Given the description of an element on the screen output the (x, y) to click on. 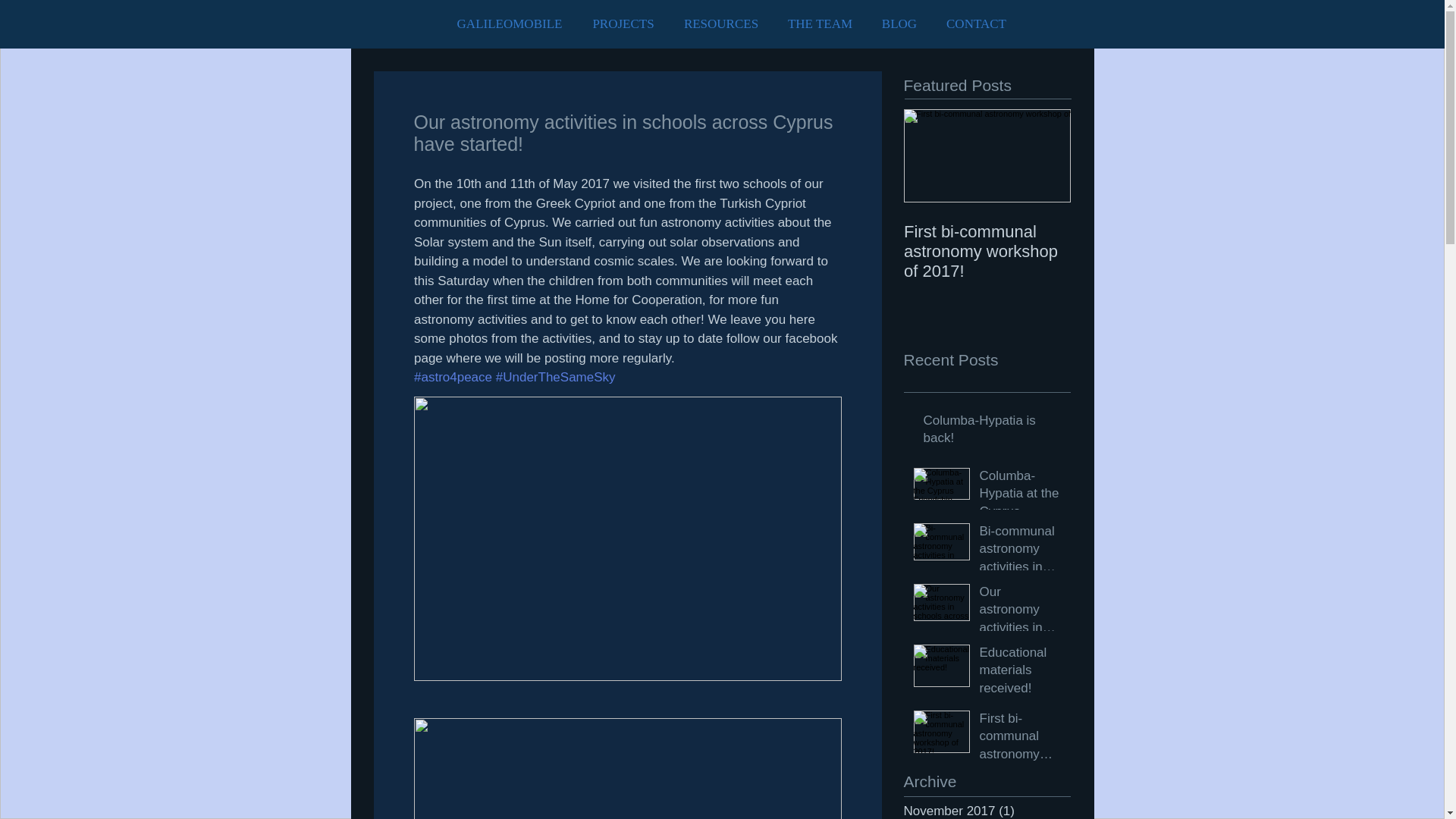
THE TEAM (820, 24)
RESOURCES (720, 24)
BLOG (899, 24)
Columba-Hypatia at the Cyprus Friendship Program Camp (1020, 496)
First bi-communal astronomy workshop of 2017! (987, 251)
First bi-communal astronomy workshop of 2017! (1020, 739)
PROJECTS (623, 24)
Educational materials received! (1020, 673)
GALILEOMOBILE (508, 24)
Bi-communal astronomy activities in Cyprus (1020, 552)
CONTACT (975, 24)
Columba-Hypatia is back! (992, 432)
